Given the description of an element on the screen output the (x, y) to click on. 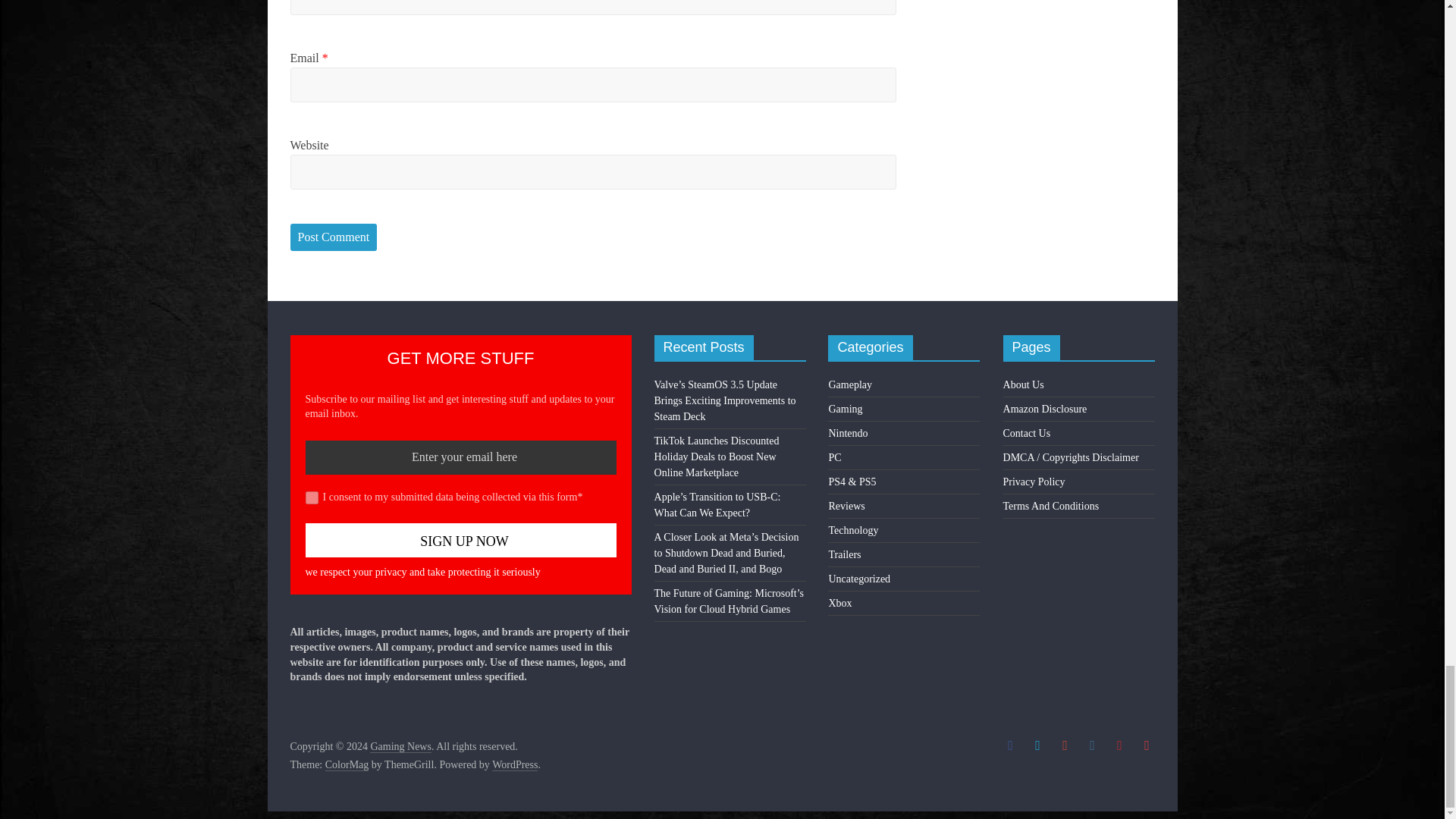
Post Comment (333, 236)
on (310, 497)
Sign Up Now (459, 540)
